Given the description of an element on the screen output the (x, y) to click on. 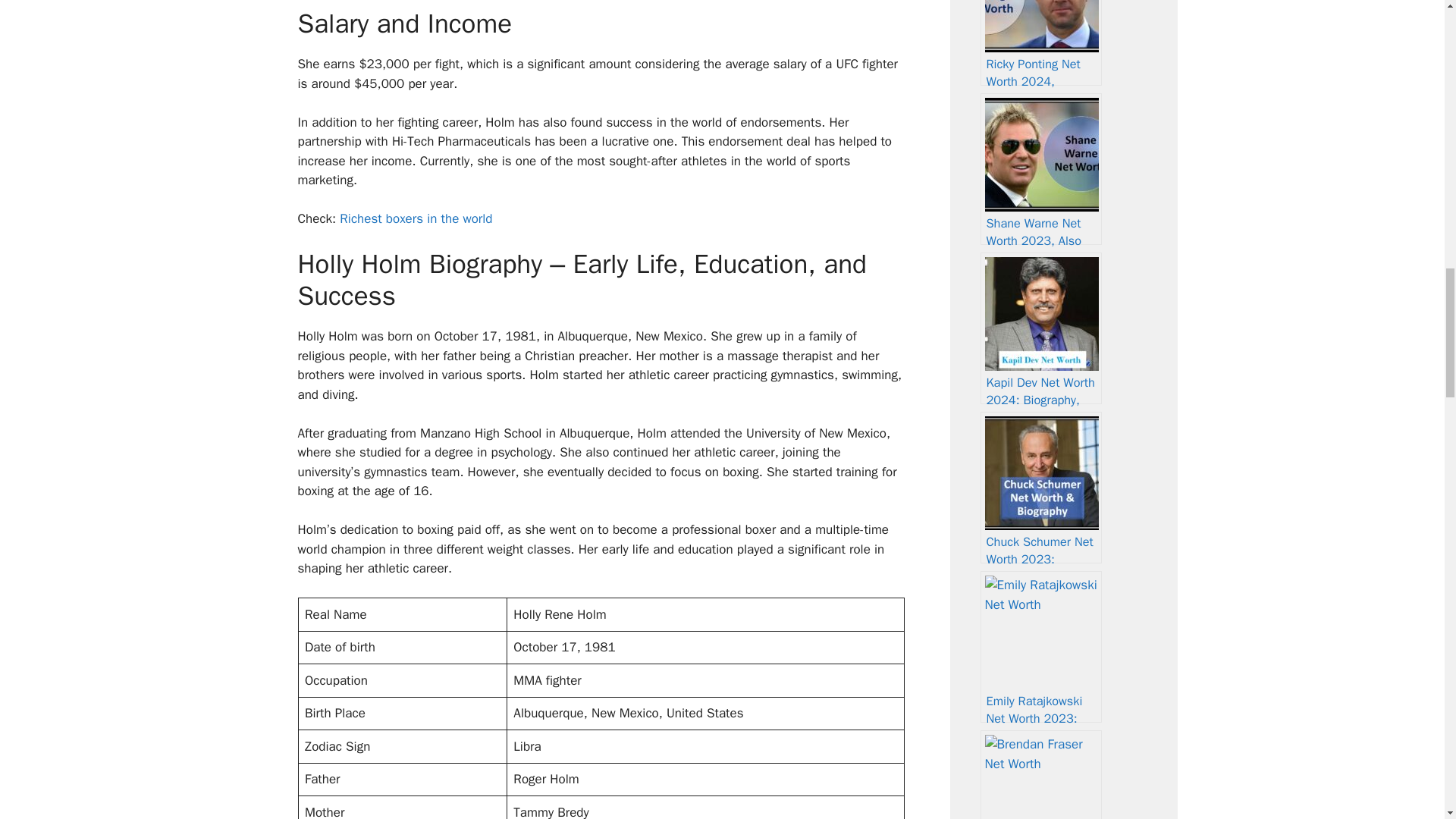
Richest boxers in the world (415, 218)
